Given the description of an element on the screen output the (x, y) to click on. 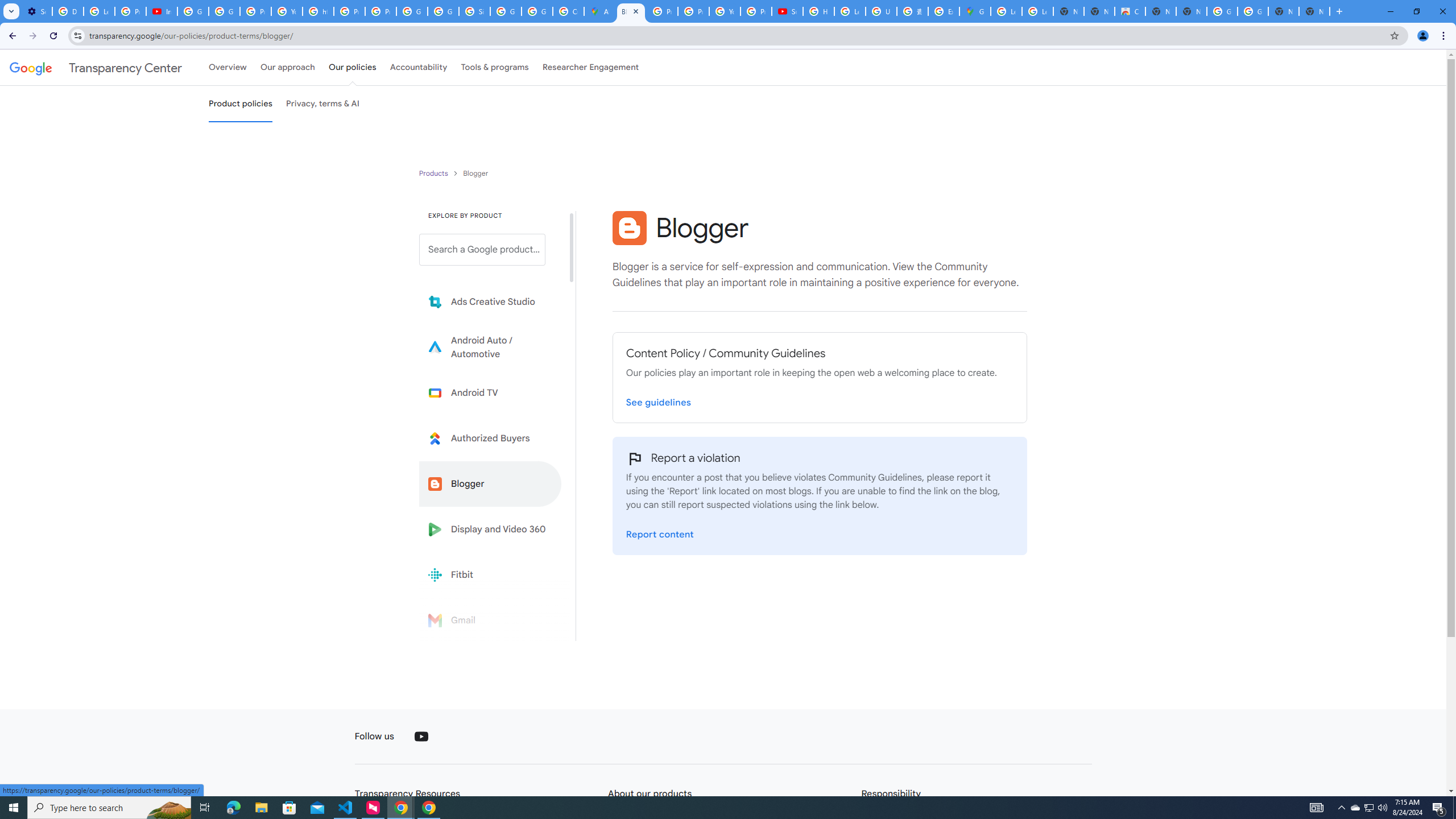
Tools & programs (494, 67)
How Chrome protects your passwords - Google Chrome Help (818, 11)
Google Account Help (192, 11)
Fitbit (490, 574)
Learn more about Android Auto (490, 347)
